Given the description of an element on the screen output the (x, y) to click on. 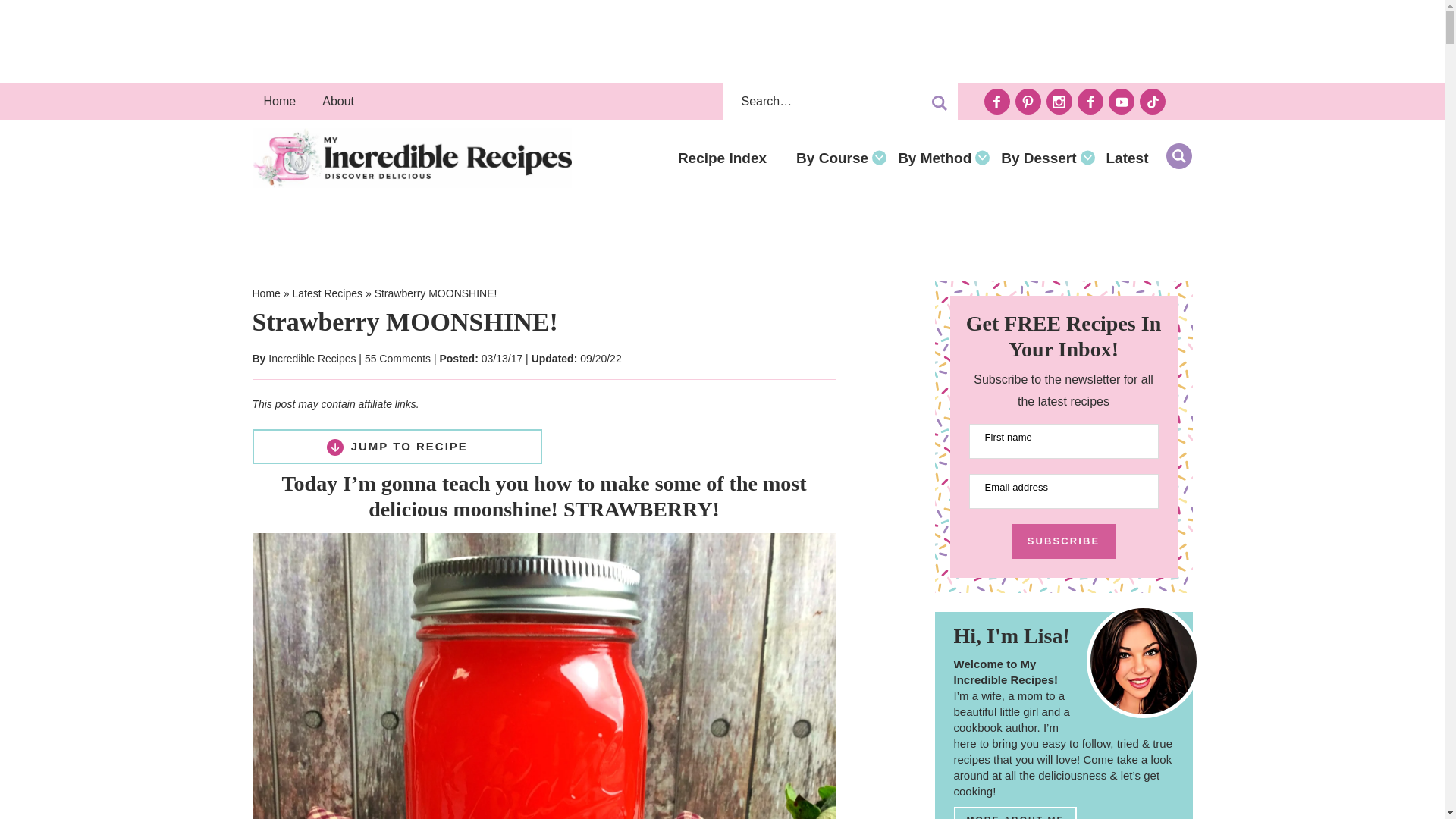
About (338, 101)
By Course (835, 157)
By Method (938, 157)
By Dessert (1042, 157)
Home (279, 101)
SEARCH (1179, 155)
Search for (839, 101)
Recipe Index (725, 157)
JUMP TO RECIPE (396, 446)
